Given the description of an element on the screen output the (x, y) to click on. 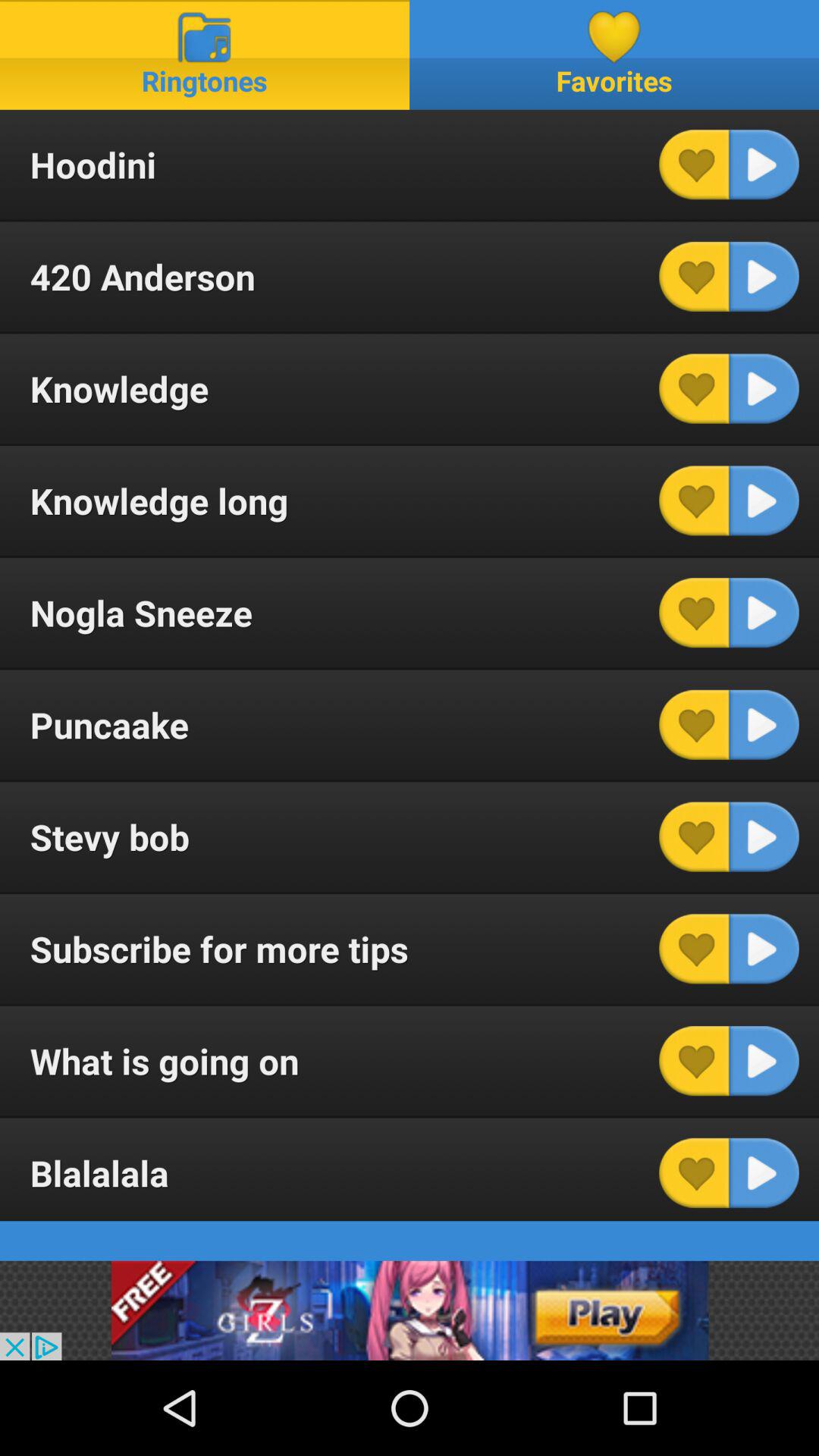
add ringtone to favorites (694, 612)
